Given the description of an element on the screen output the (x, y) to click on. 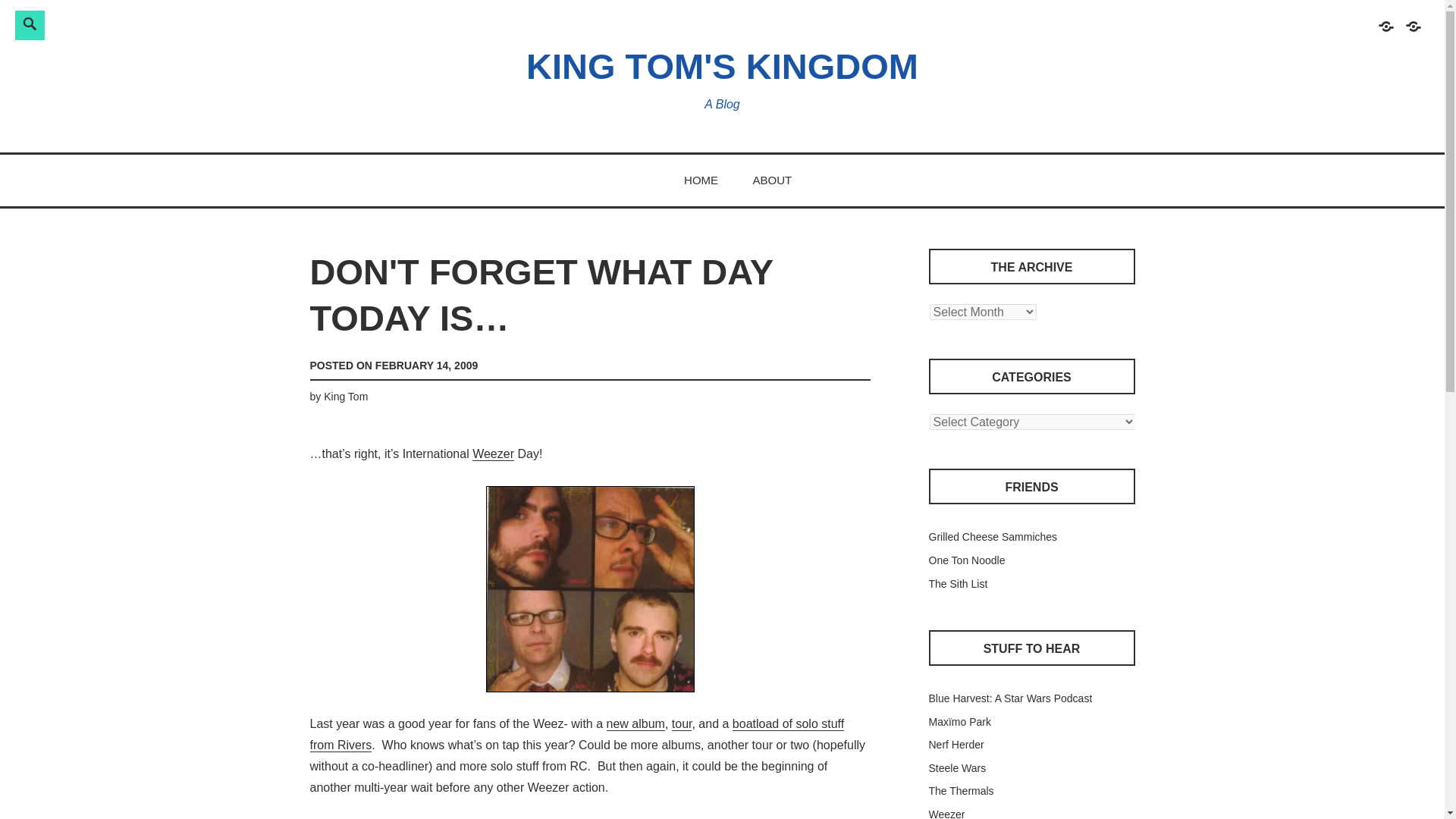
Nerf Herder (956, 744)
One Ton Noodle (966, 560)
boatload of solo stuff from Rivers (576, 734)
KING TOM'S KINGDOM (721, 65)
Weezer (945, 813)
FEBRUARY 14, 2009 (426, 365)
tour (682, 724)
Search (242, 22)
HOME (700, 179)
Search (242, 22)
